Given the description of an element on the screen output the (x, y) to click on. 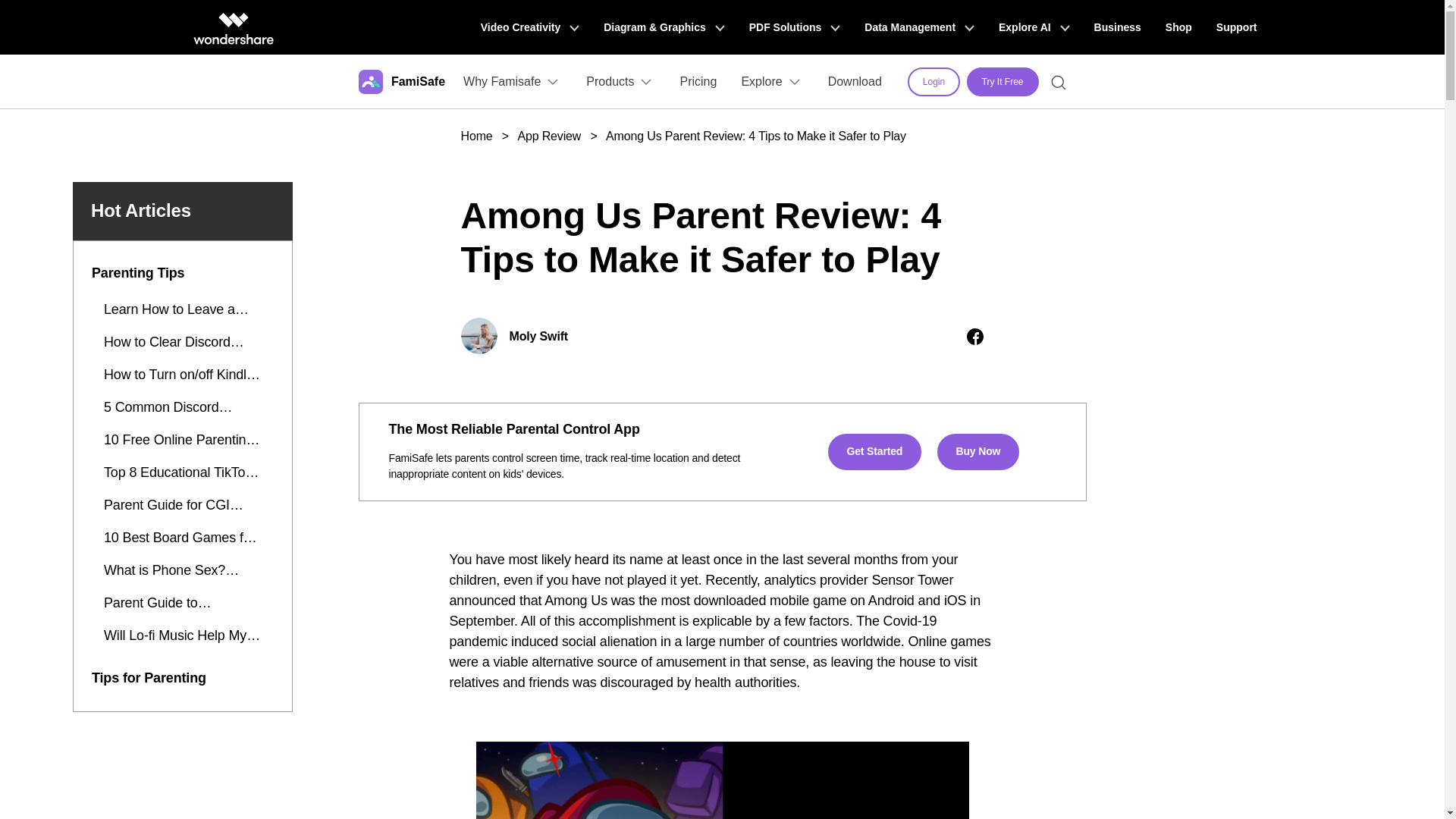
PDF Solutions (794, 27)
Data Management (919, 27)
Video Creativity (529, 27)
Explore AI (1034, 27)
